Given the description of an element on the screen output the (x, y) to click on. 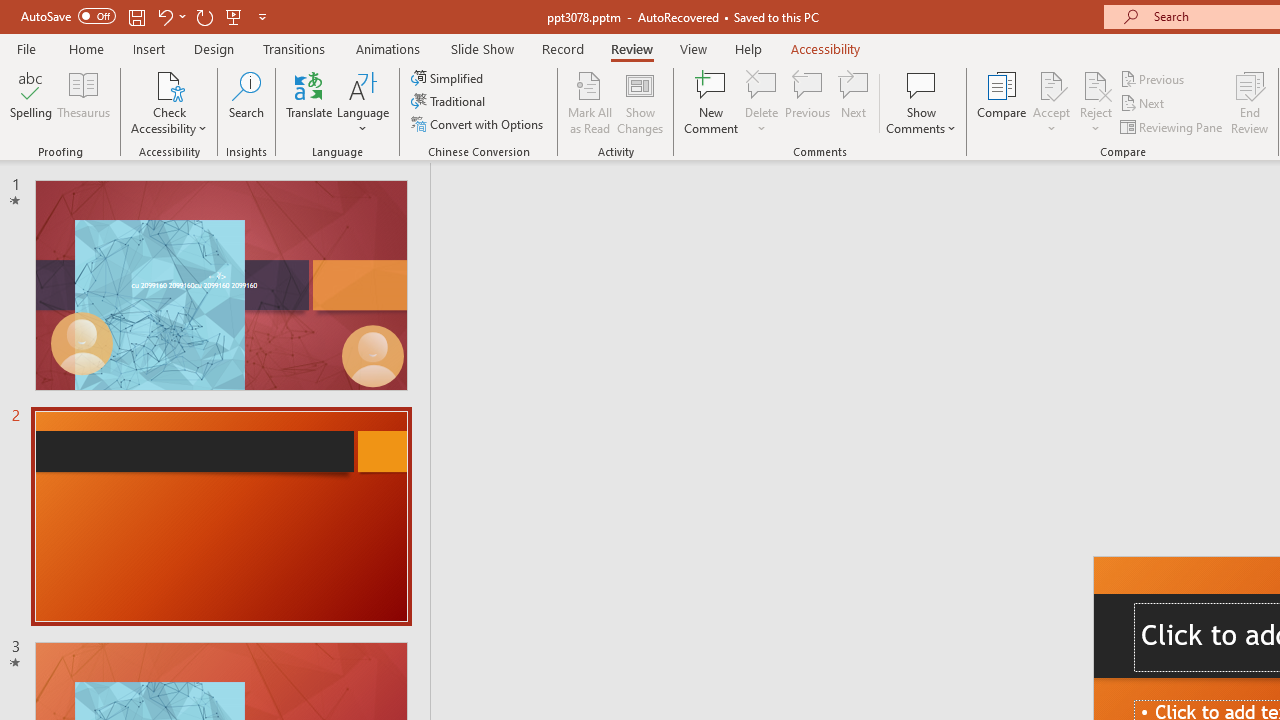
Translate (309, 102)
Reject Change (1096, 84)
Thesaurus... (83, 102)
Reject (1096, 102)
Show Changes (639, 102)
